Given the description of an element on the screen output the (x, y) to click on. 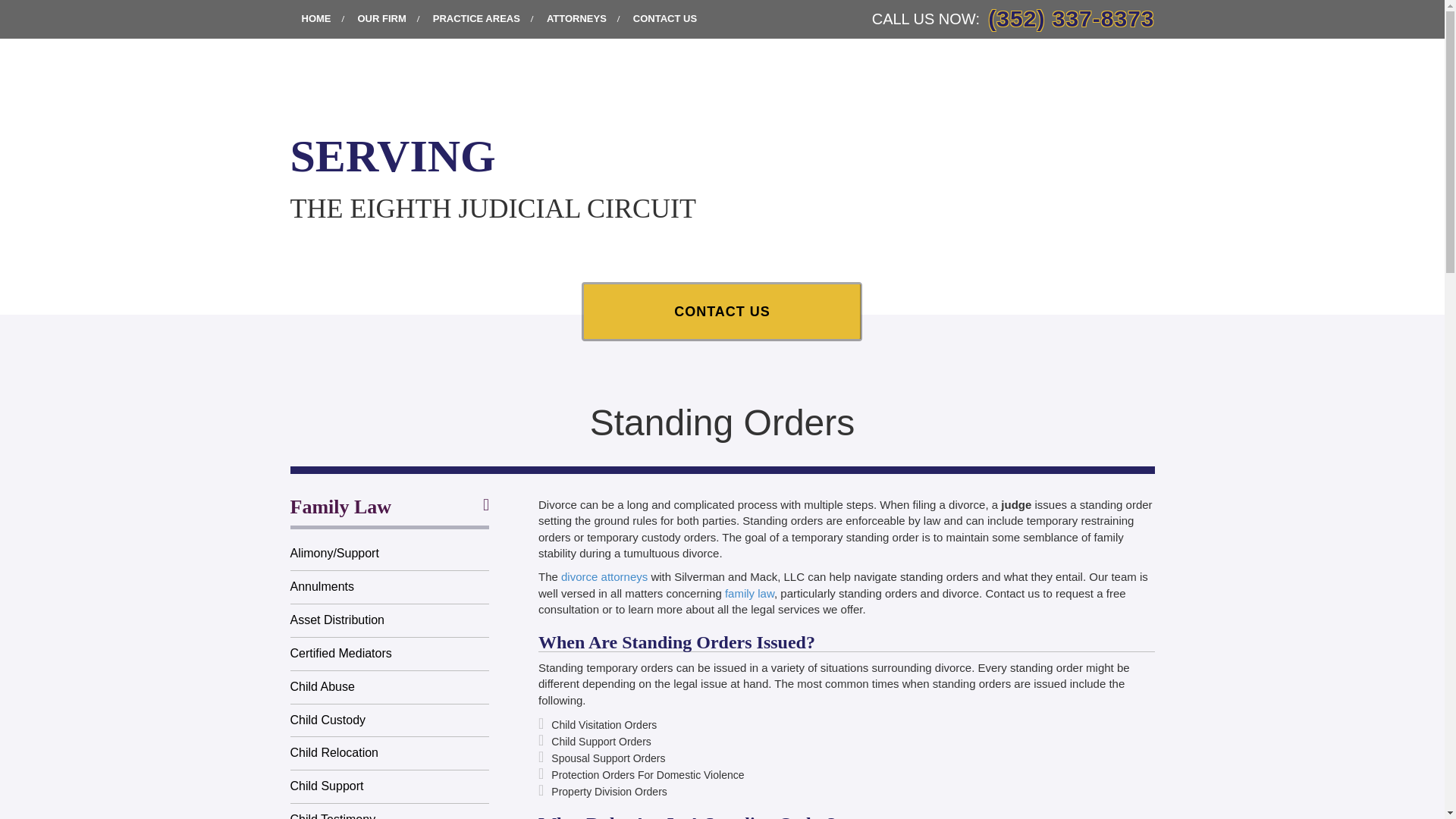
OUR FIRM (381, 18)
HOME (315, 18)
PRACTICE AREAS (476, 18)
